Given the description of an element on the screen output the (x, y) to click on. 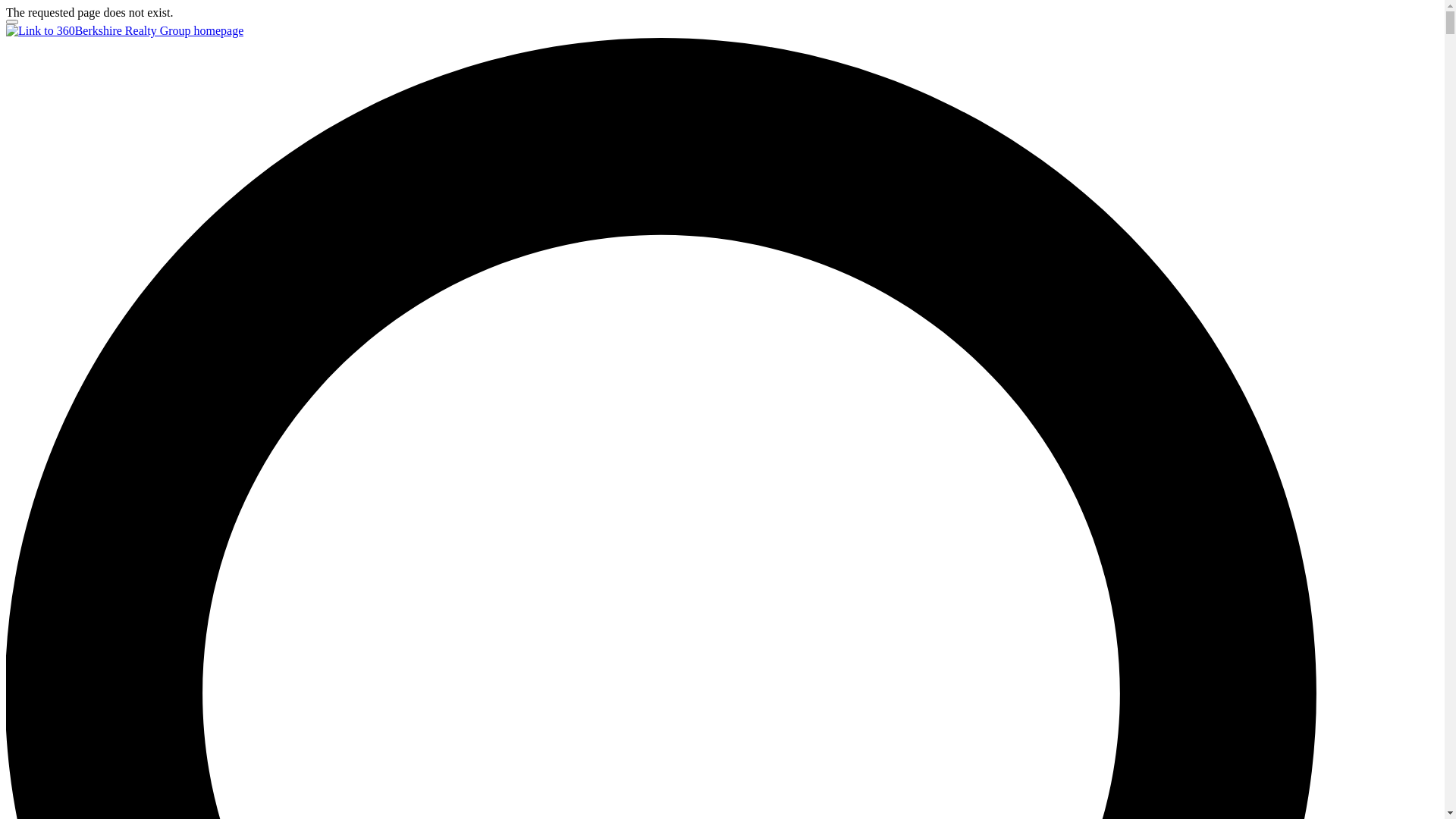
Navigate to 360Berkshire Realty Group homepage Element type: hover (124, 30)
Navigate to 360Berkshire Realty Group homepage Element type: hover (124, 30)
